Given the description of an element on the screen output the (x, y) to click on. 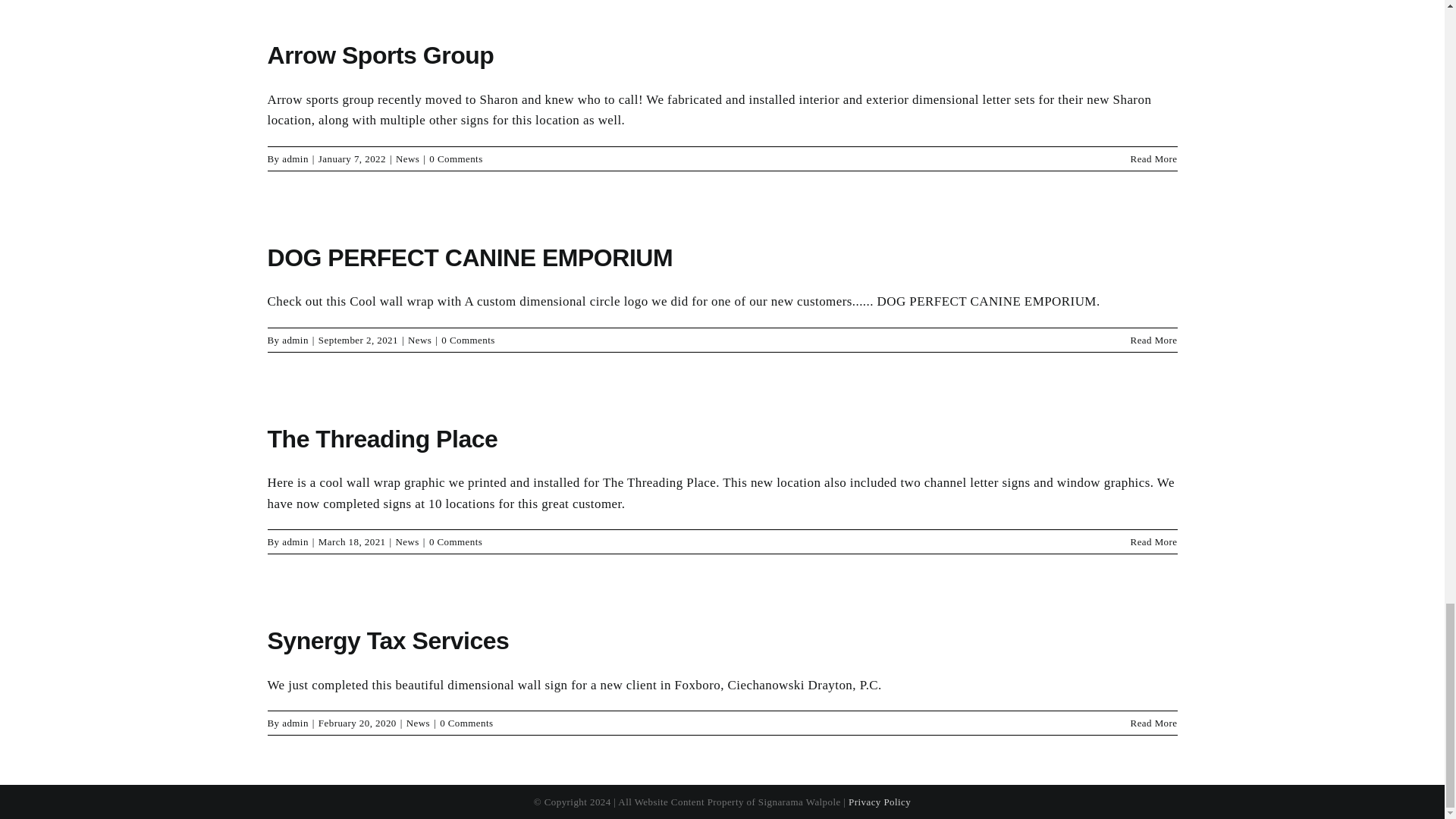
Posts by admin (295, 339)
Posts by admin (295, 158)
Posts by admin (295, 541)
Posts by admin (295, 722)
